Given the description of an element on the screen output the (x, y) to click on. 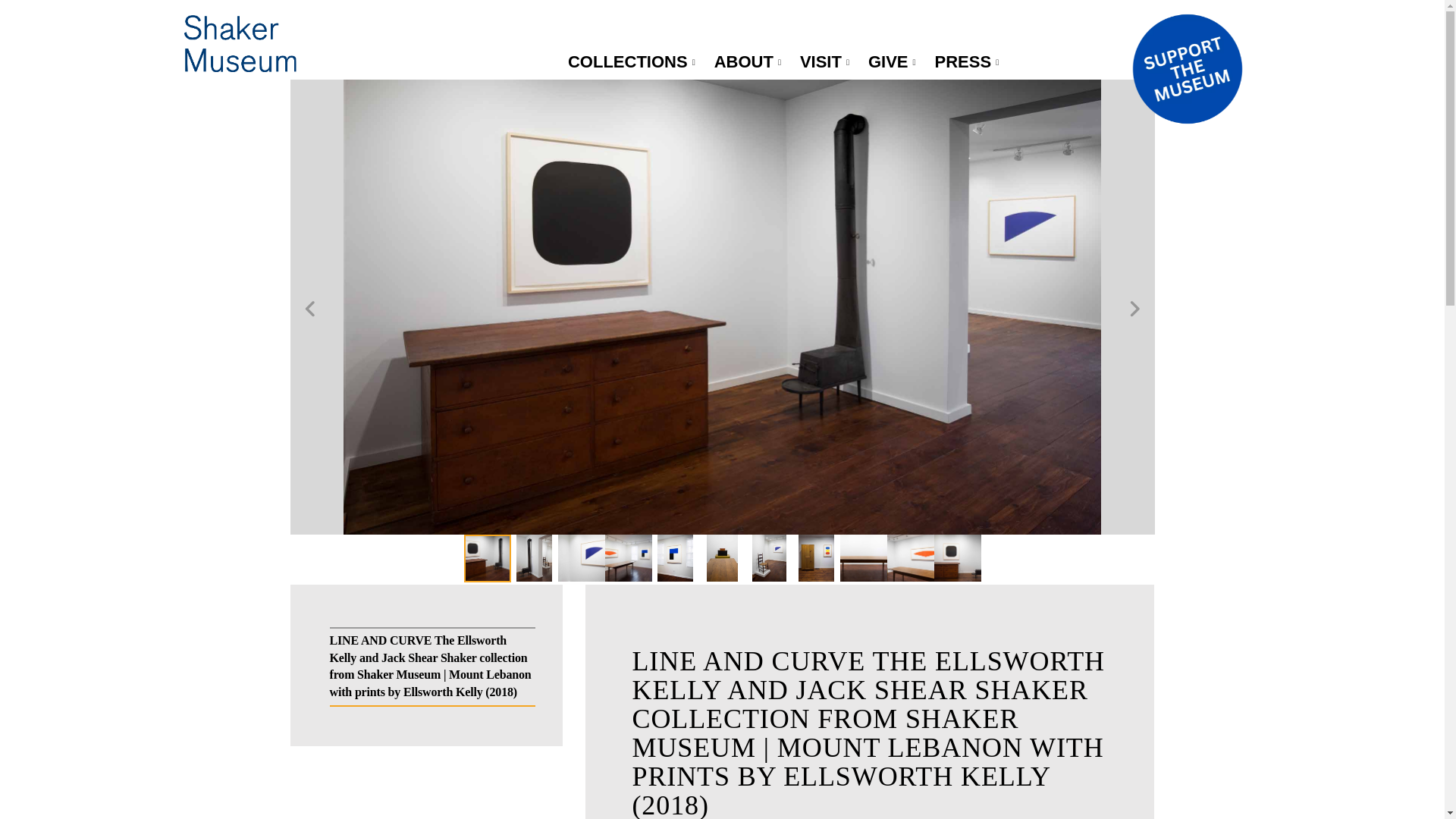
GIVE (893, 62)
ABOUT (749, 62)
PRESS (968, 62)
COLLECTIONS (633, 62)
VISIT (826, 62)
